Given the description of an element on the screen output the (x, y) to click on. 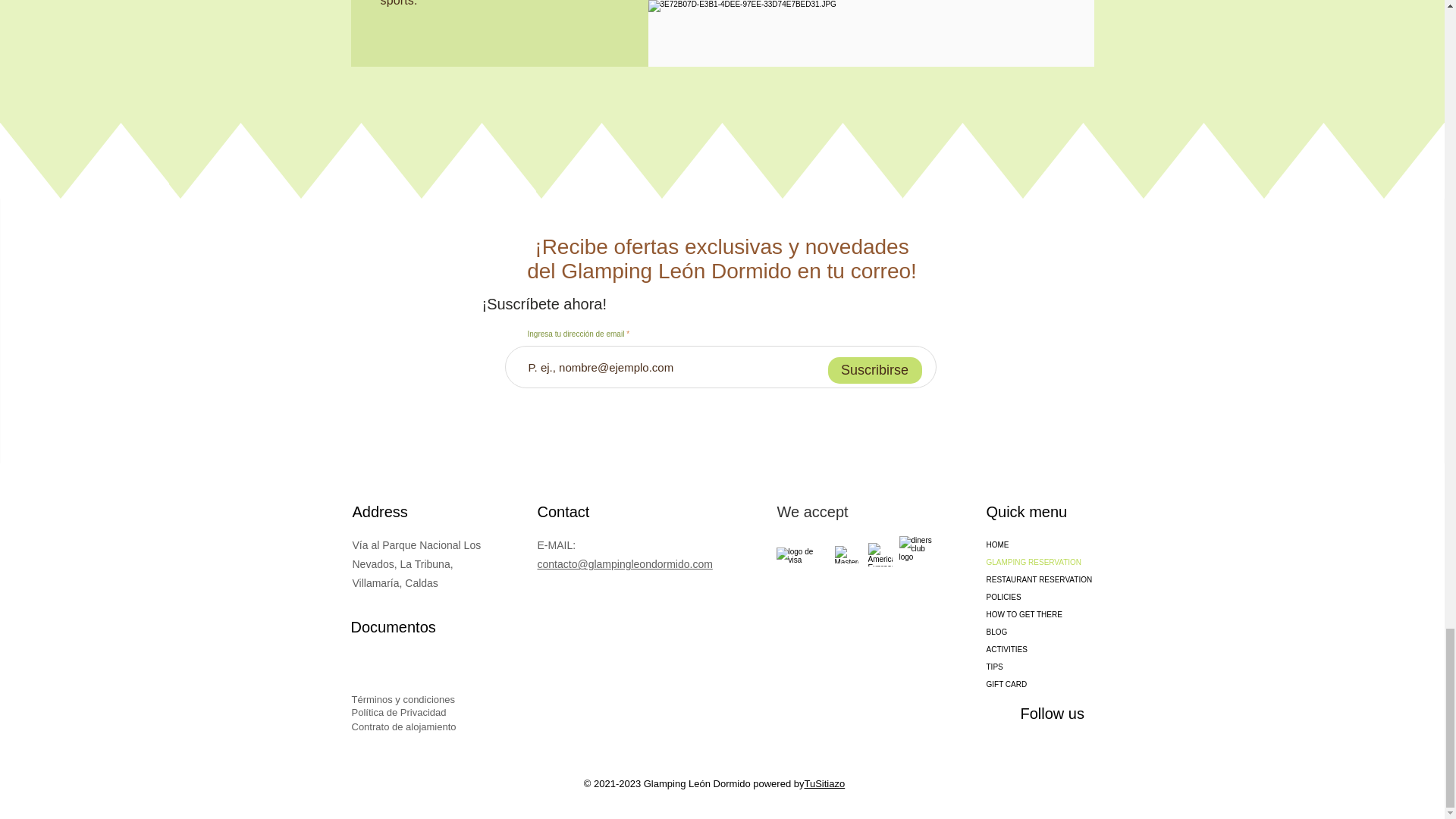
TIPS (1039, 666)
GIFT CARD (1039, 683)
RESTAURANT RESERVATION (1039, 579)
Suscribirse (874, 370)
HOW TO GET THERE (1039, 614)
GLAMPING RESERVATION (1039, 561)
Contrato de alojamiento (404, 726)
HOME (1039, 544)
POLICIES (1039, 597)
BLOG (1039, 631)
